Given the description of an element on the screen output the (x, y) to click on. 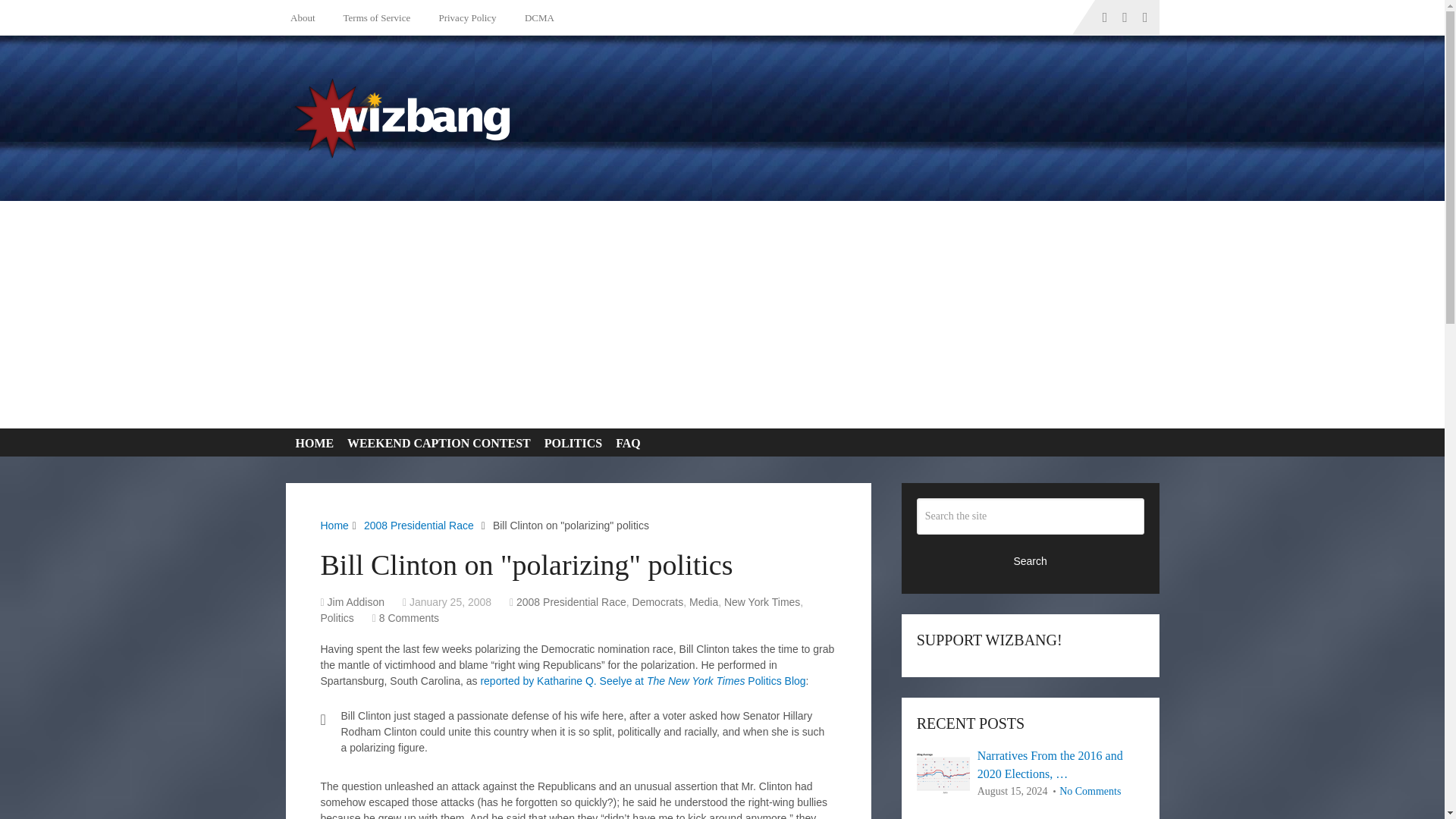
Democrats (657, 602)
View all posts in 2008 Presidential Race (571, 602)
View all posts in Democrats (657, 602)
Privacy Policy (464, 17)
New York Times (761, 602)
Posts by Jim Addison (355, 602)
FAQ (625, 443)
Politics (336, 617)
